Given the description of an element on the screen output the (x, y) to click on. 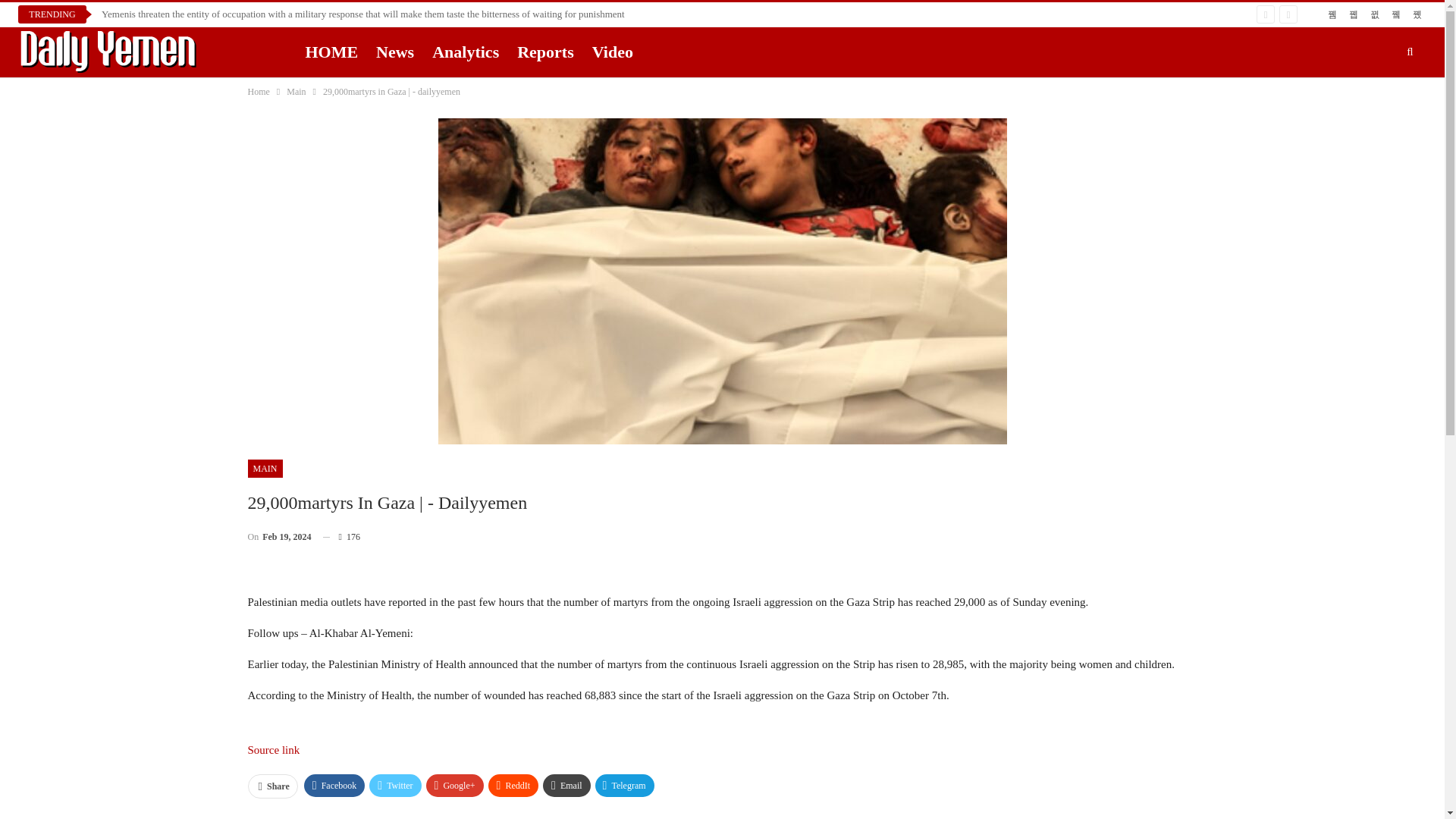
Main (295, 91)
News (395, 51)
Telegram (624, 784)
Email (567, 784)
MAIN (264, 468)
Reports (545, 51)
Source link (273, 749)
ReddIt (512, 784)
Home (258, 91)
Video (612, 51)
